Given the description of an element on the screen output the (x, y) to click on. 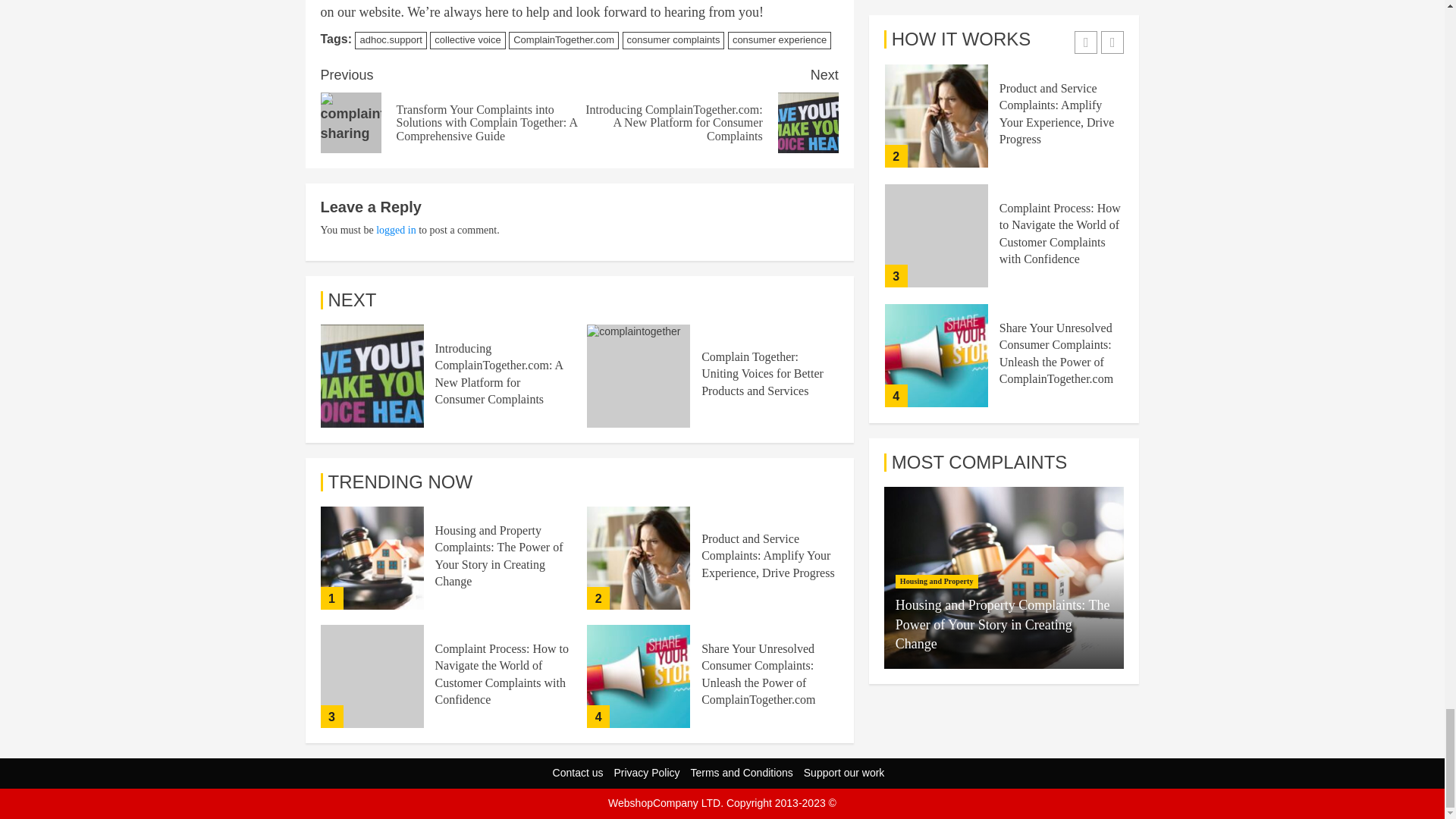
collective voice (467, 40)
ComplainTogether.com (563, 40)
consumer experience (779, 40)
logged in (395, 229)
adhoc.support (390, 40)
consumer complaints (674, 40)
